Given the description of an element on the screen output the (x, y) to click on. 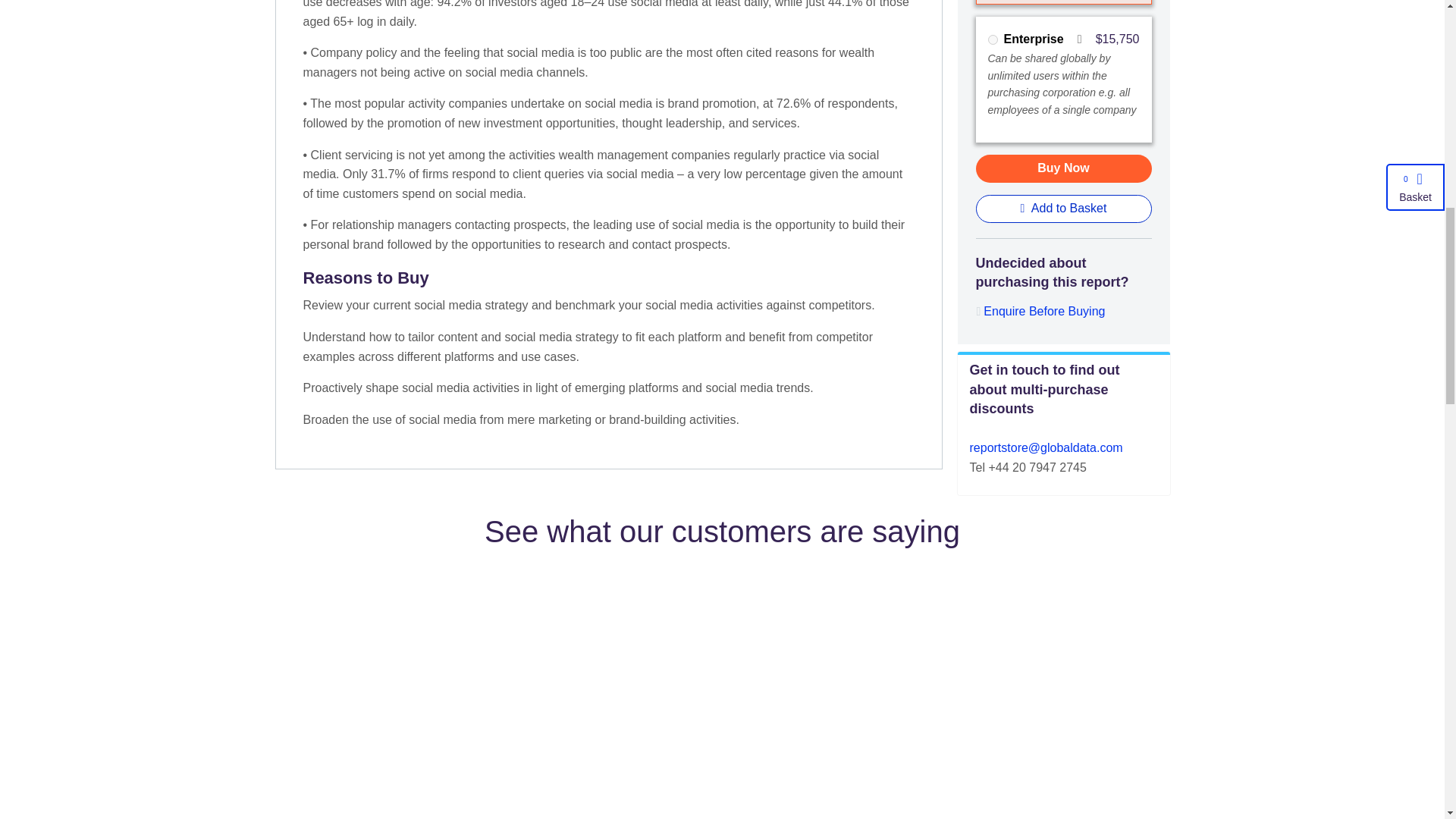
909219 (992, 40)
